Given the description of an element on the screen output the (x, y) to click on. 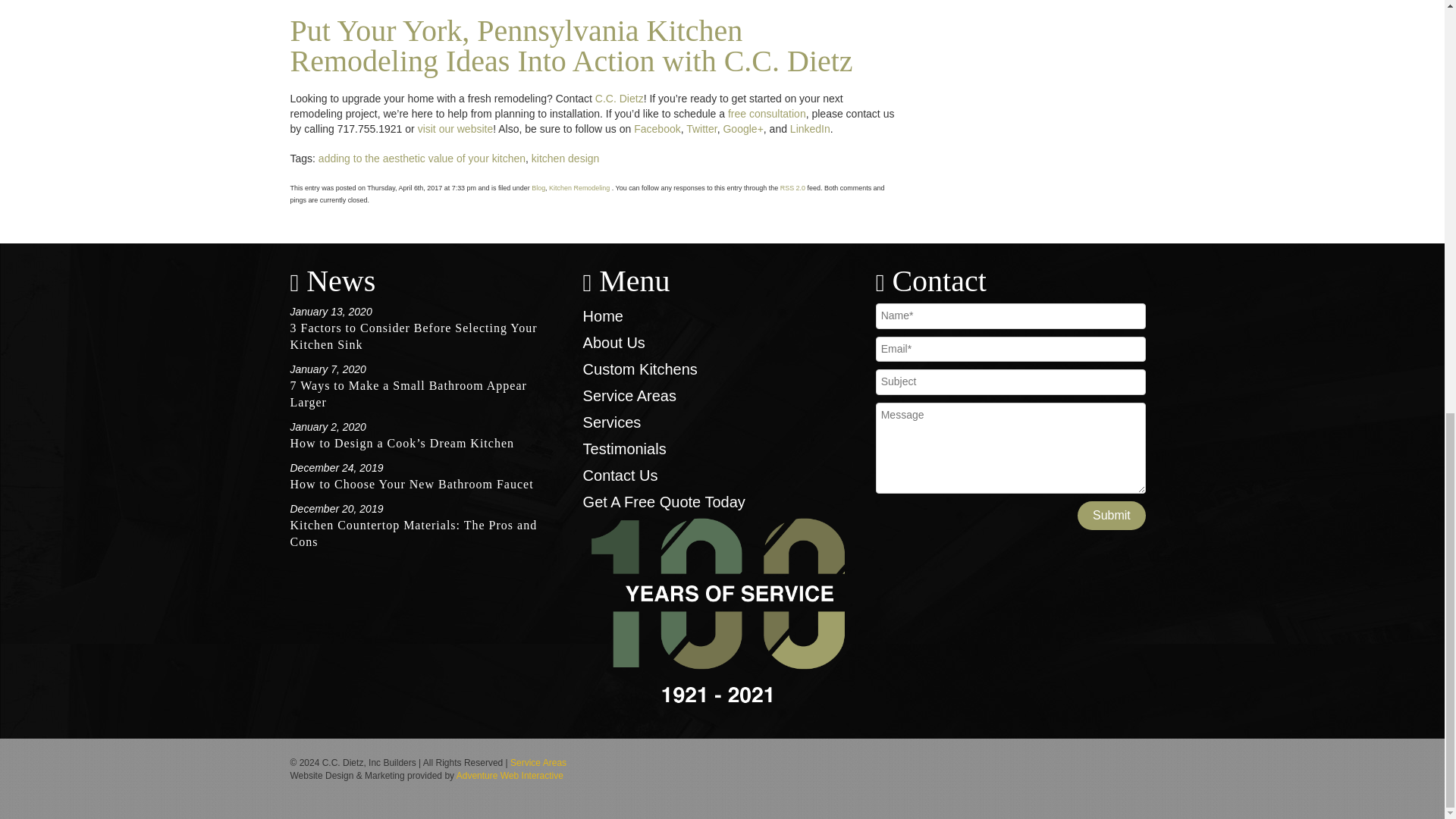
adding to the aesthetic value of your kitchen (421, 158)
LinkedIn (809, 128)
Submit (1111, 515)
Facebook (656, 128)
free consultation (767, 113)
Twitter (700, 128)
visit our website (455, 128)
kitchen design (565, 158)
Blog (537, 187)
Kitchen Remodeling (579, 187)
C.C. Dietz (619, 98)
RSS 2.0 (792, 187)
